Given the description of an element on the screen output the (x, y) to click on. 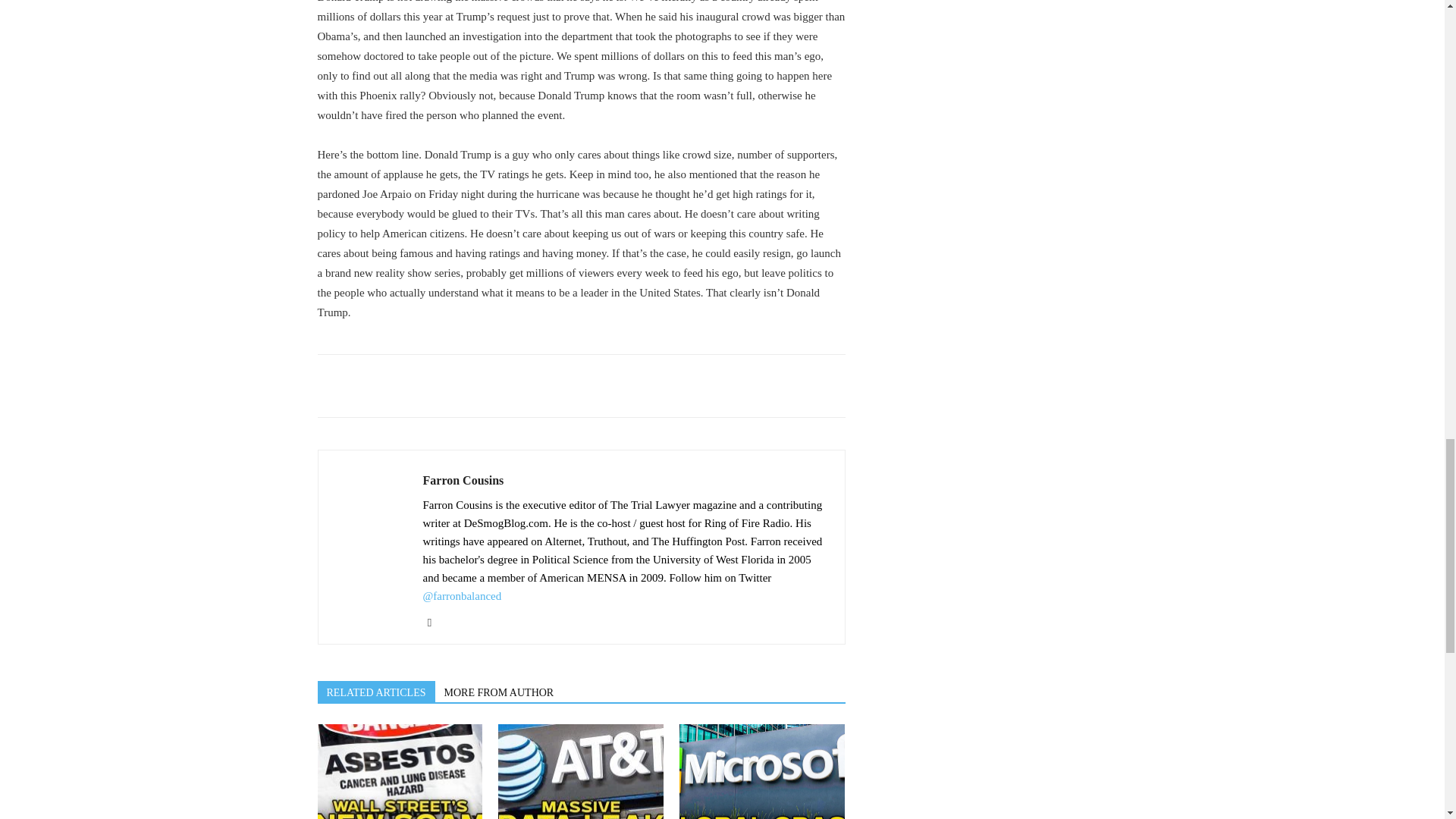
Twitter (435, 621)
